Given the description of an element on the screen output the (x, y) to click on. 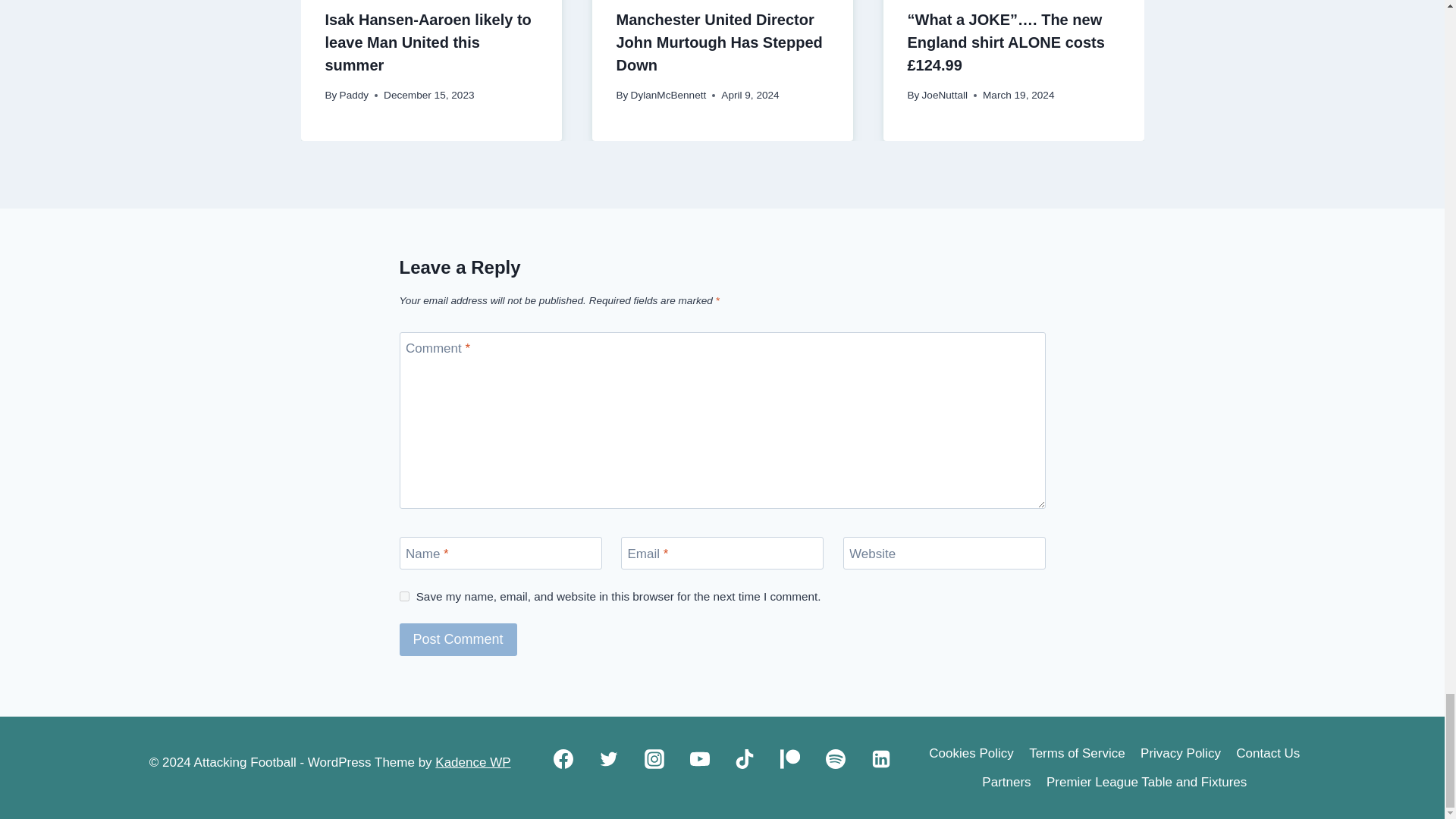
Post Comment (457, 639)
yes (403, 596)
